Given the description of an element on the screen output the (x, y) to click on. 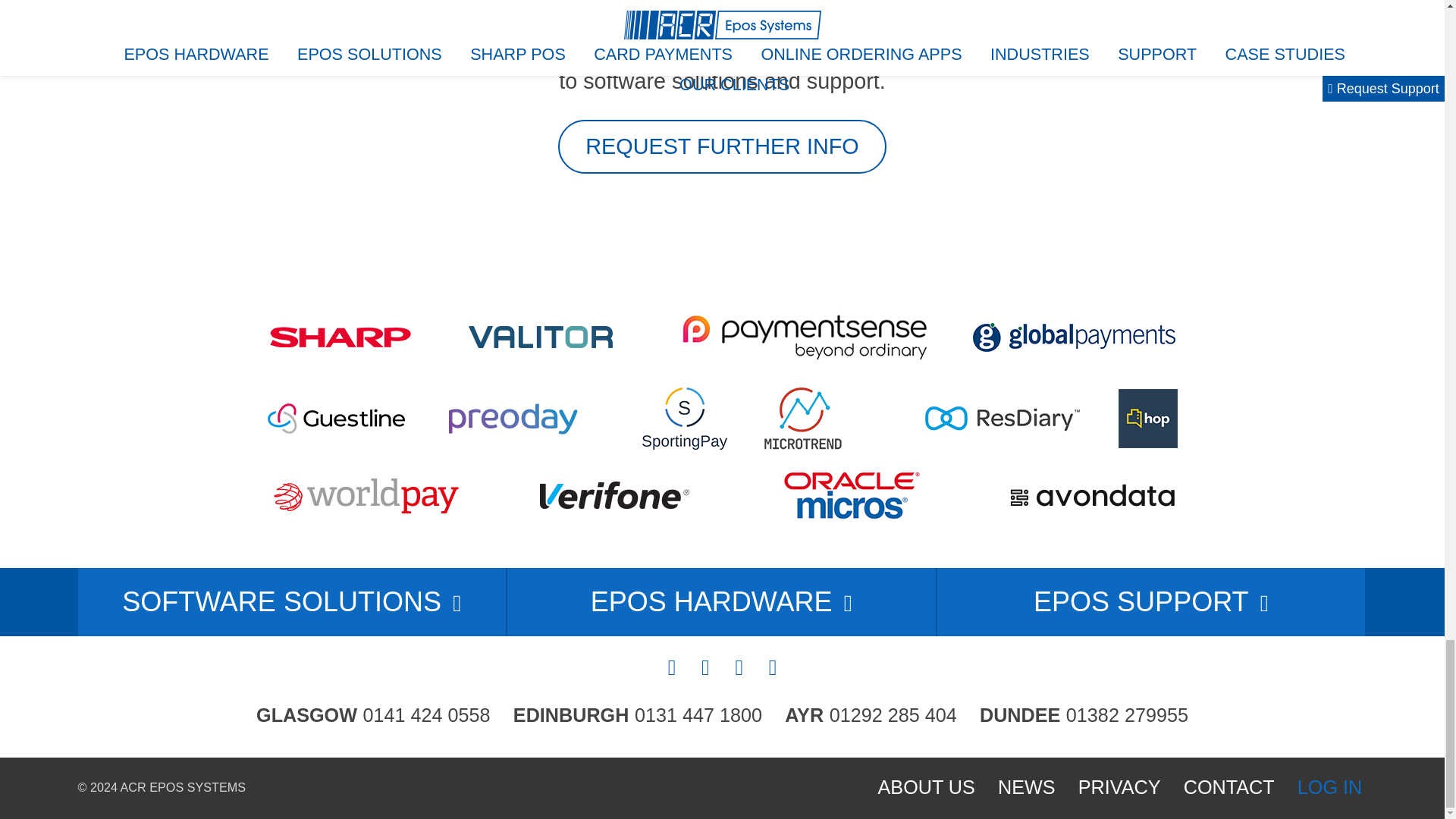
EPOS SUPPORT (1152, 602)
SOFTWARE SOLUTIONS (291, 602)
CONTACT (1227, 786)
ABOUT US (925, 786)
LOG IN (1329, 786)
PRIVACY (1120, 786)
EPOS HARDWARE (721, 602)
REQUEST FURTHER INFO (721, 145)
NEWS (1025, 786)
